Given the description of an element on the screen output the (x, y) to click on. 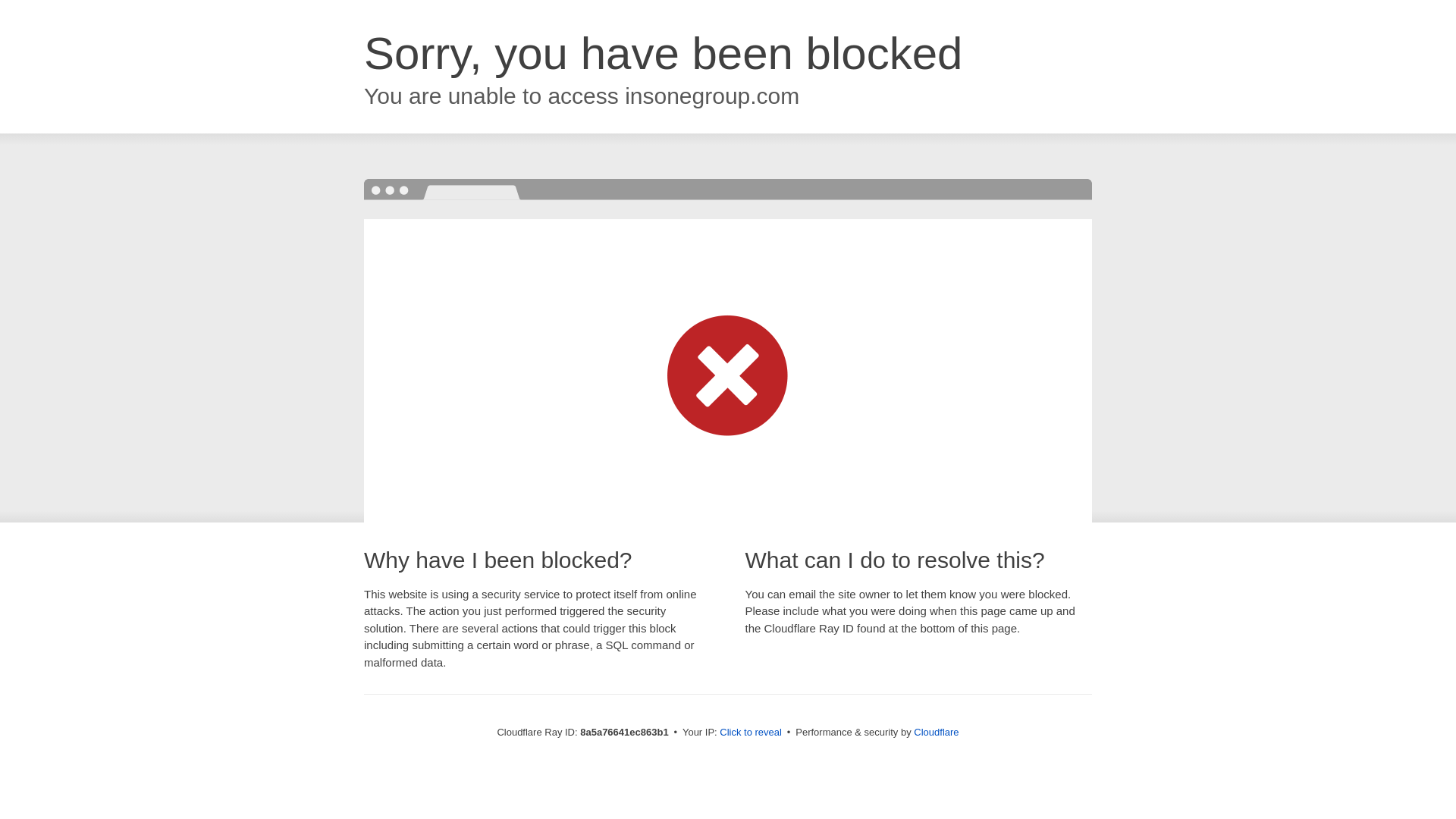
Cloudflare (936, 731)
Click to reveal (750, 732)
